Given the description of an element on the screen output the (x, y) to click on. 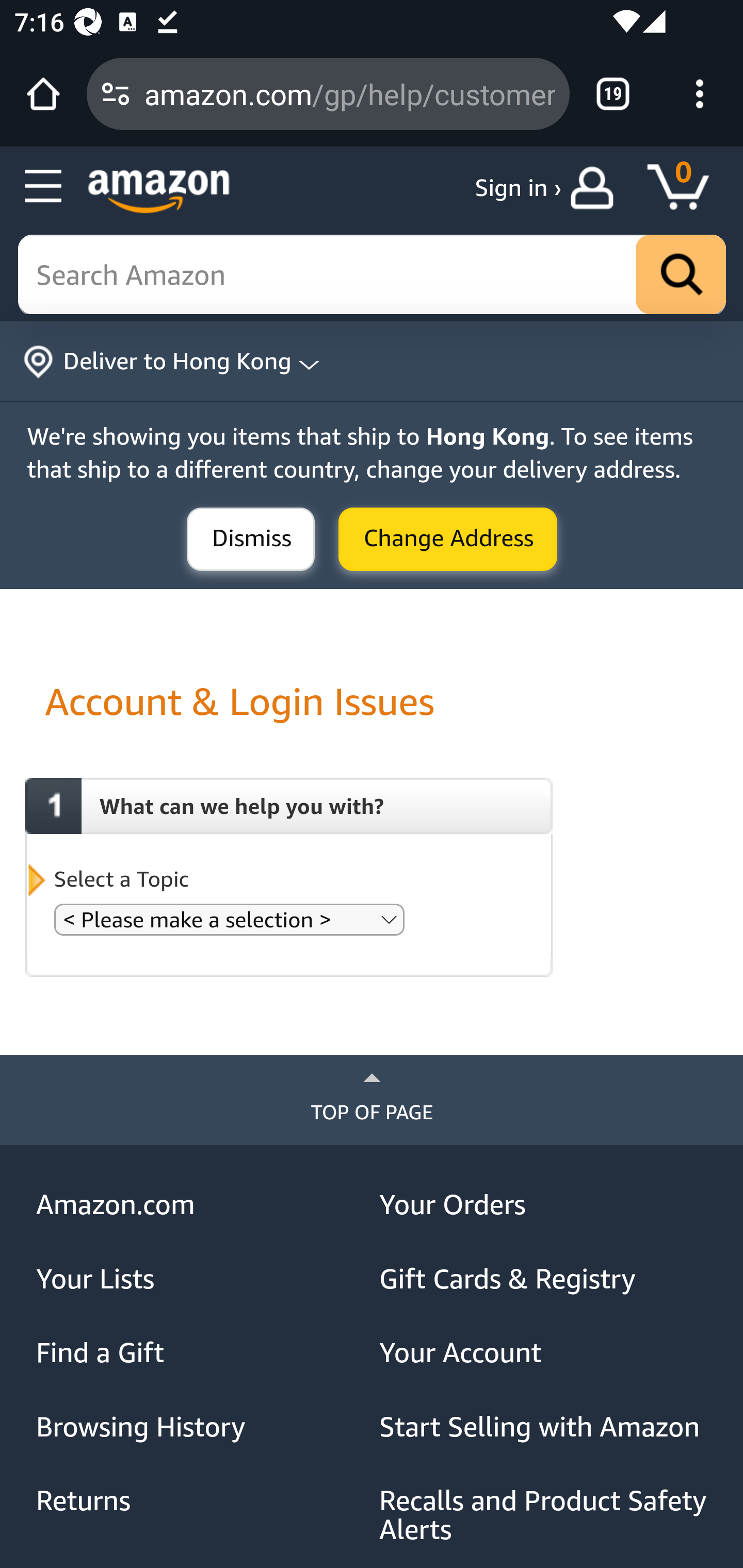
Open the home page (43, 93)
Connection is secure (115, 93)
Switch or close tabs (612, 93)
Customize and control Google Chrome (699, 93)
Open Menu (44, 187)
Sign in › (518, 188)
your account (596, 188)
Cart 0 (687, 188)
Amazon (158, 191)
Go (681, 275)
Submit (250, 539)
Submit (447, 539)
< Please make a selection > (229, 919)
Top of page TOP OF PAGE (371, 1099)
Amazon.com (201, 1204)
Your Orders (543, 1204)
Your Lists (201, 1278)
Gift Cards & Registry (543, 1278)
Find a Gift (201, 1352)
Your Account (543, 1352)
Browsing History (201, 1426)
Start Selling with Amazon (543, 1426)
Returns (201, 1500)
Recalls and Product Safety Alerts (543, 1515)
